Given the description of an element on the screen output the (x, y) to click on. 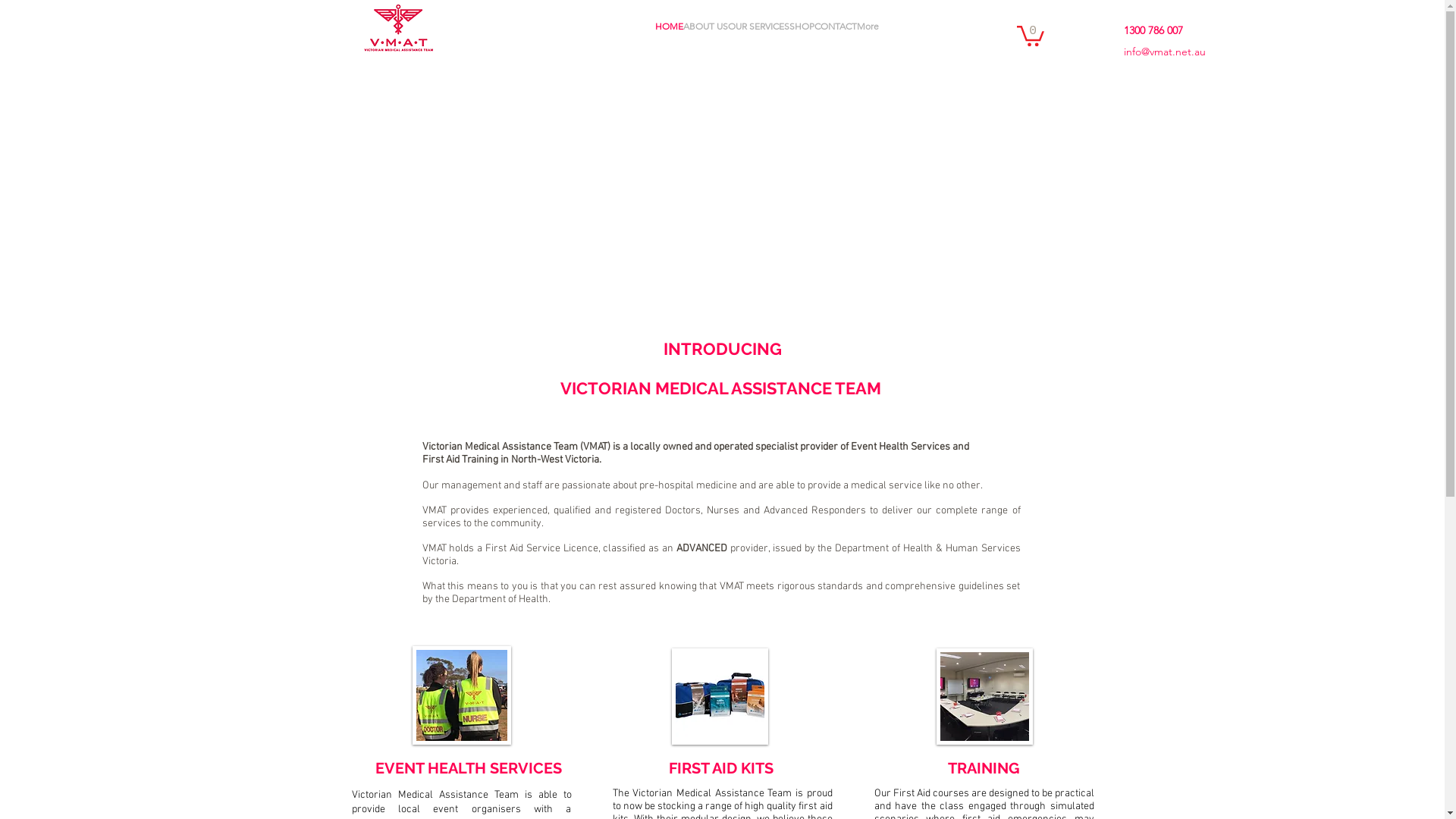
FIRST AID KITS Element type: text (721, 767)
SHOP Element type: text (801, 34)
EVENT HEALTH SERVICES Element type: text (467, 767)
CONTACT Element type: text (835, 34)
FAW_Industry_Set - Copy.jpg Element type: hover (719, 696)
HOME Element type: text (669, 34)
11692749_1662570623989419_5500832500574516708_n.jpg Element type: hover (461, 695)
0 Element type: text (1029, 34)
info@vmat.net.au Element type: text (1164, 51)
VMAT Logo[1].png Element type: hover (397, 28)
13412029_1781951715384642_2201944117537865894_o.jpg Element type: hover (983, 696)
